Given the description of an element on the screen output the (x, y) to click on. 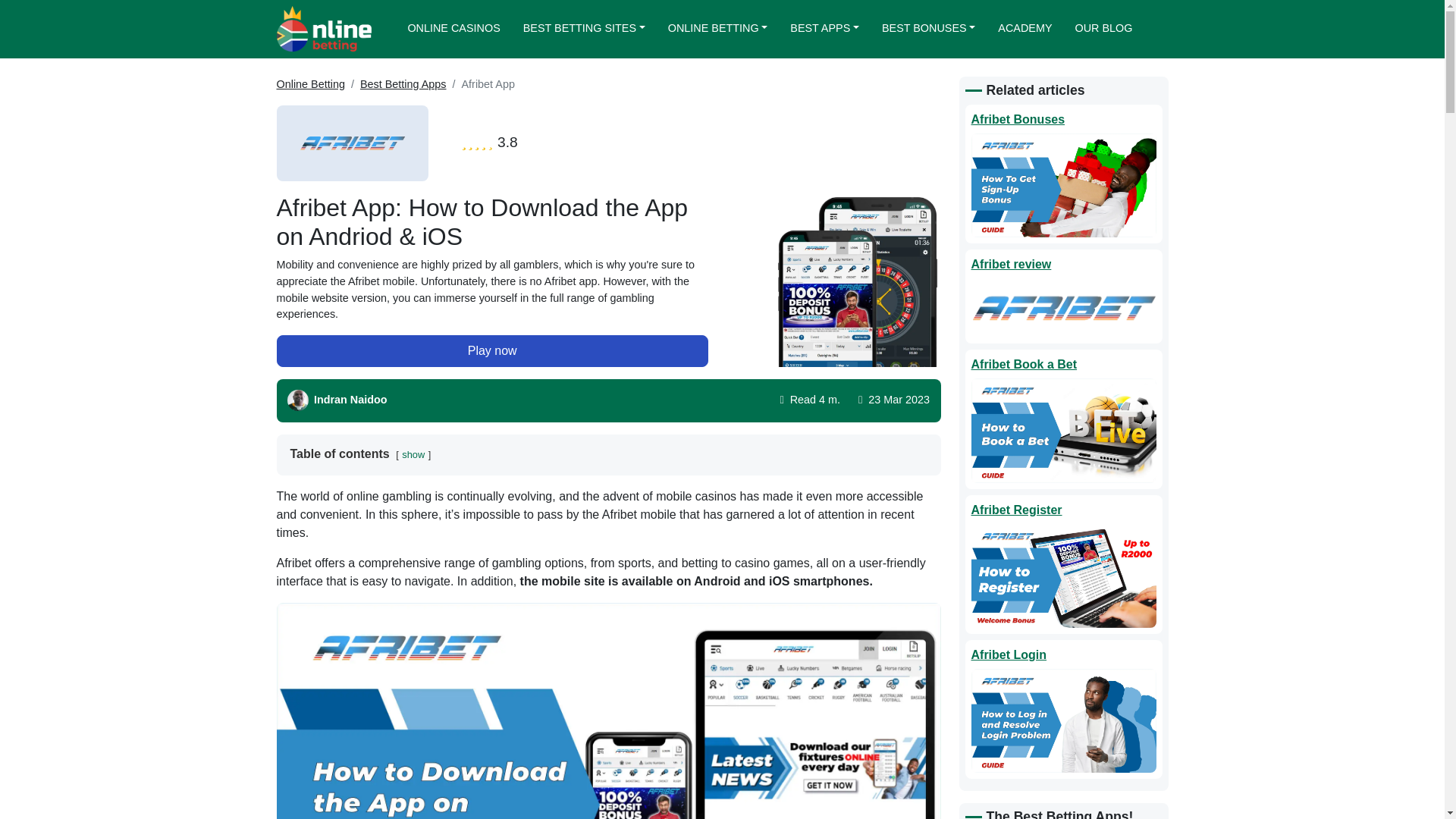
BEST BETTING SITES (584, 28)
BEST APPS (824, 28)
ONLINE BETTING (717, 28)
ONLINE CASINOS (453, 28)
